Given the description of an element on the screen output the (x, y) to click on. 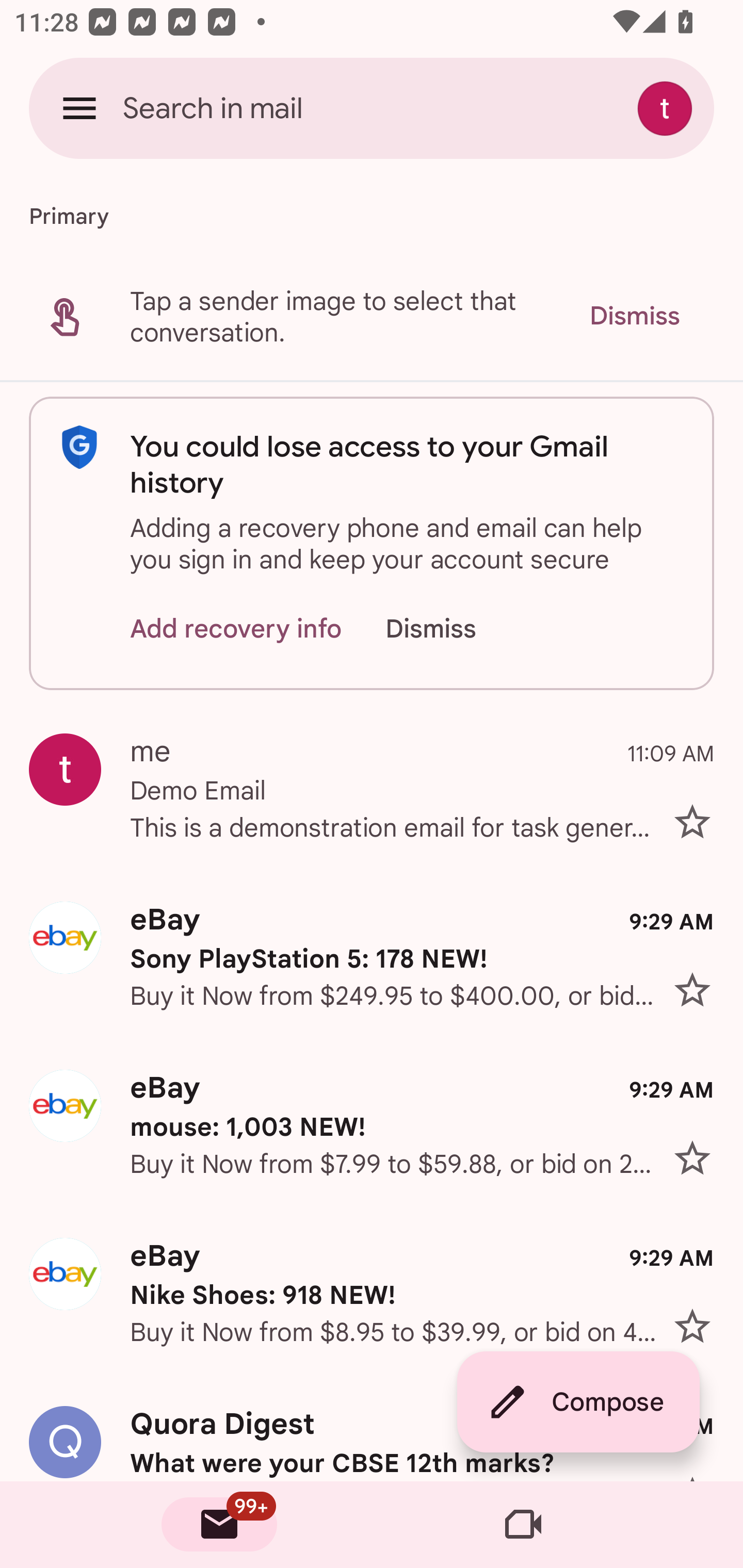
Open navigation drawer (79, 108)
Dismiss Dismiss tip (634, 315)
Add recovery info (235, 628)
Dismiss (449, 628)
Compose (577, 1401)
Meet (523, 1524)
